Given the description of an element on the screen output the (x, y) to click on. 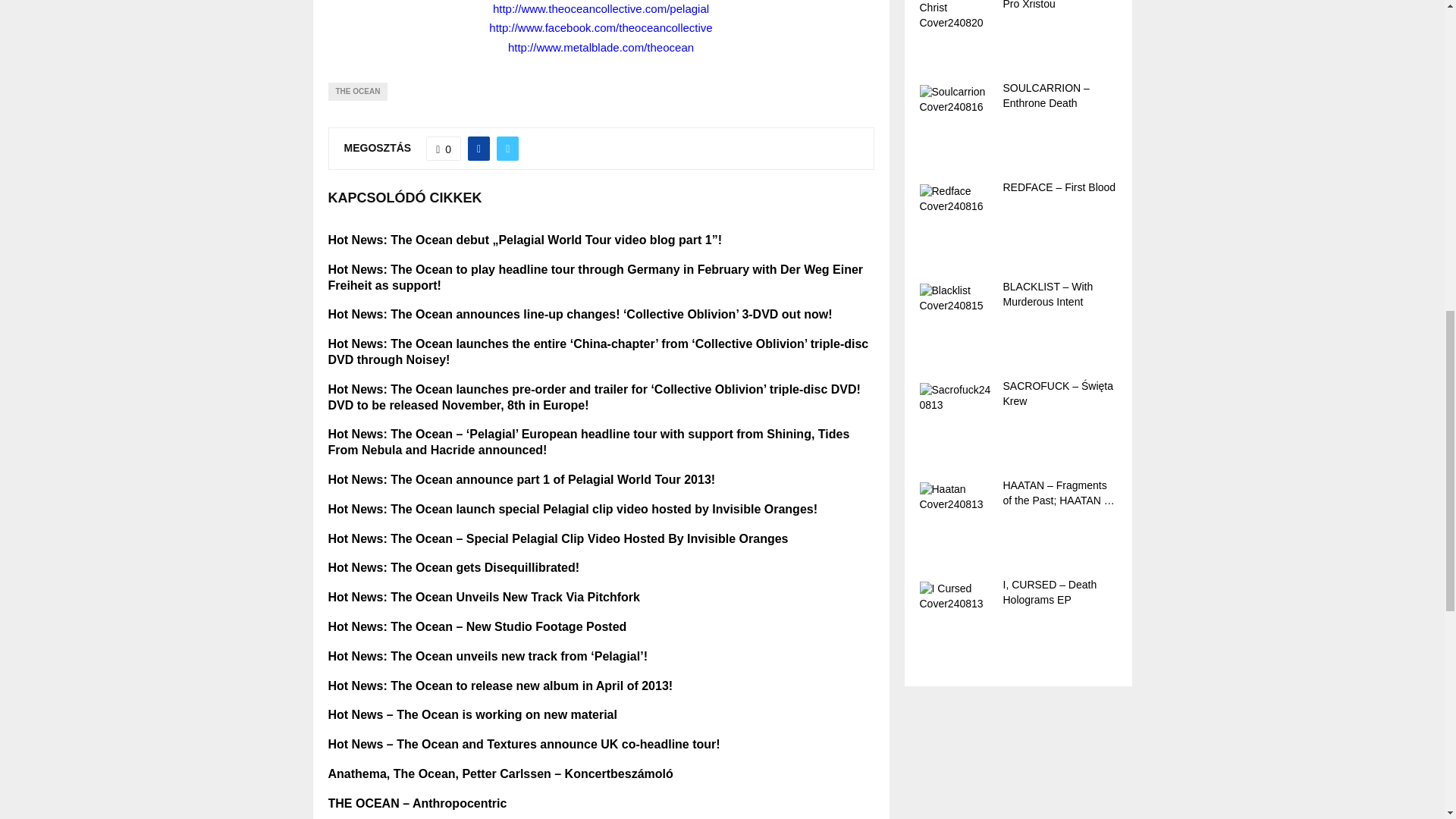
0 (443, 148)
Like (443, 148)
THE OCEAN (357, 91)
